Given the description of an element on the screen output the (x, y) to click on. 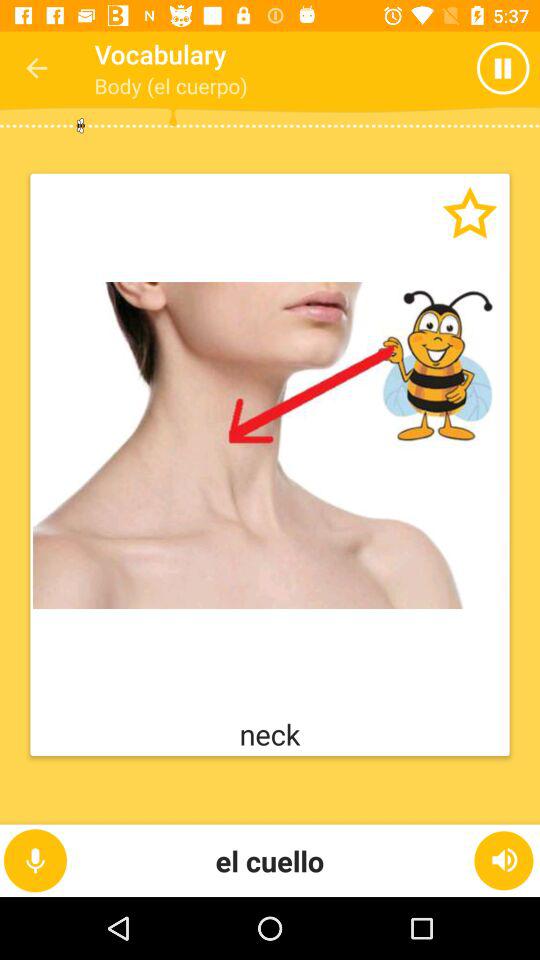
launch the icon next to the vocabulary icon (36, 68)
